Given the description of an element on the screen output the (x, y) to click on. 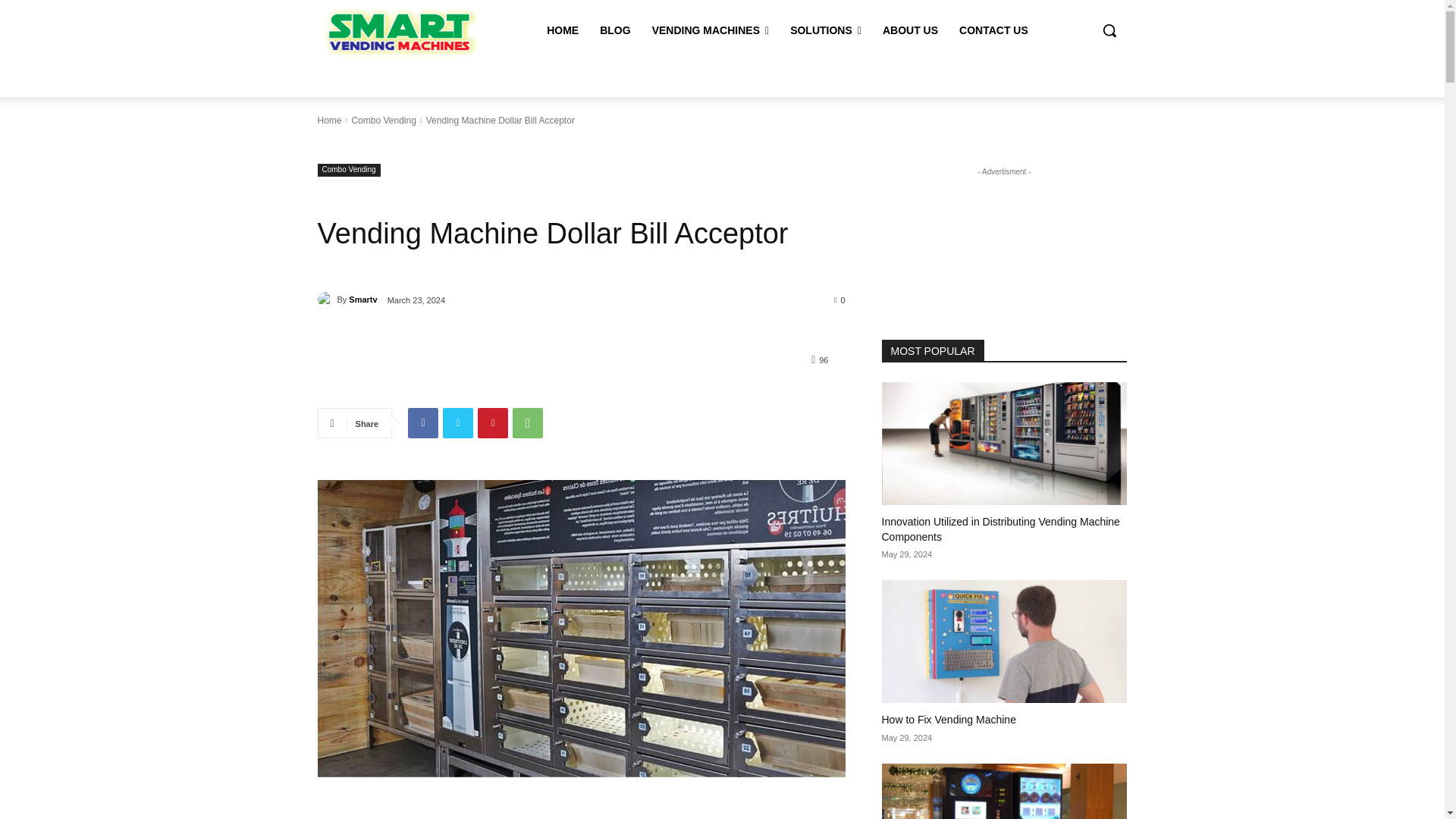
Twitter (457, 422)
BLOG (614, 30)
Pinterest (492, 422)
WhatsApp (527, 422)
SOLUTIONS (825, 30)
Facebook (422, 422)
View all posts in Combo Vending (382, 120)
ABOUT US (910, 30)
VENDING MACHINES (710, 30)
Home (328, 120)
Smartv (326, 299)
CONTACT US (994, 30)
HOME (562, 30)
